Given the description of an element on the screen output the (x, y) to click on. 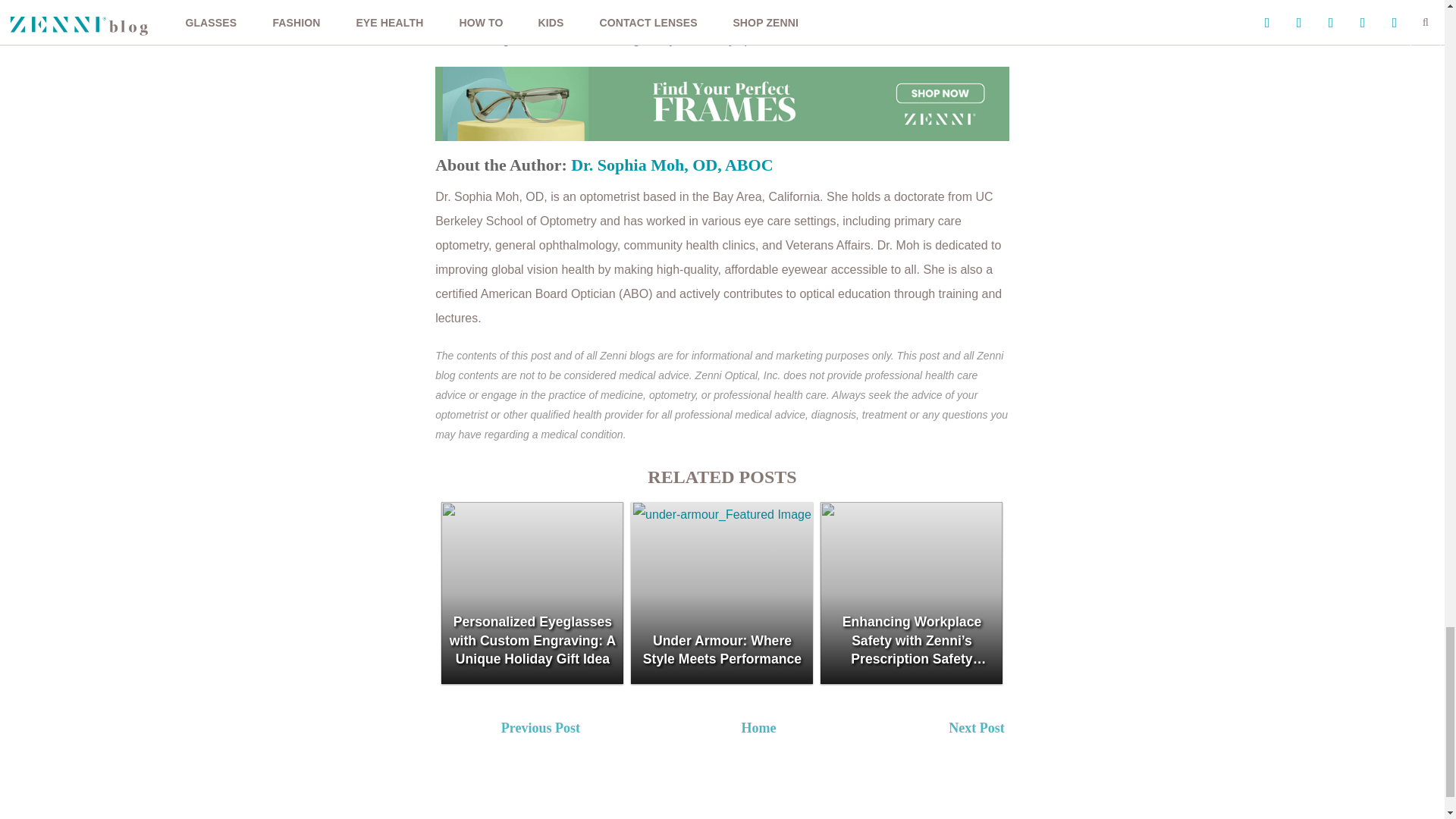
Home (758, 727)
Holiday Eyewear Collection (735, 15)
Dr. Sophia Moh, OD, ABOC (671, 164)
Next Post (1053, 730)
Previous Post (605, 730)
Under Armour: Where Style Meets Performance (721, 592)
